Given the description of an element on the screen output the (x, y) to click on. 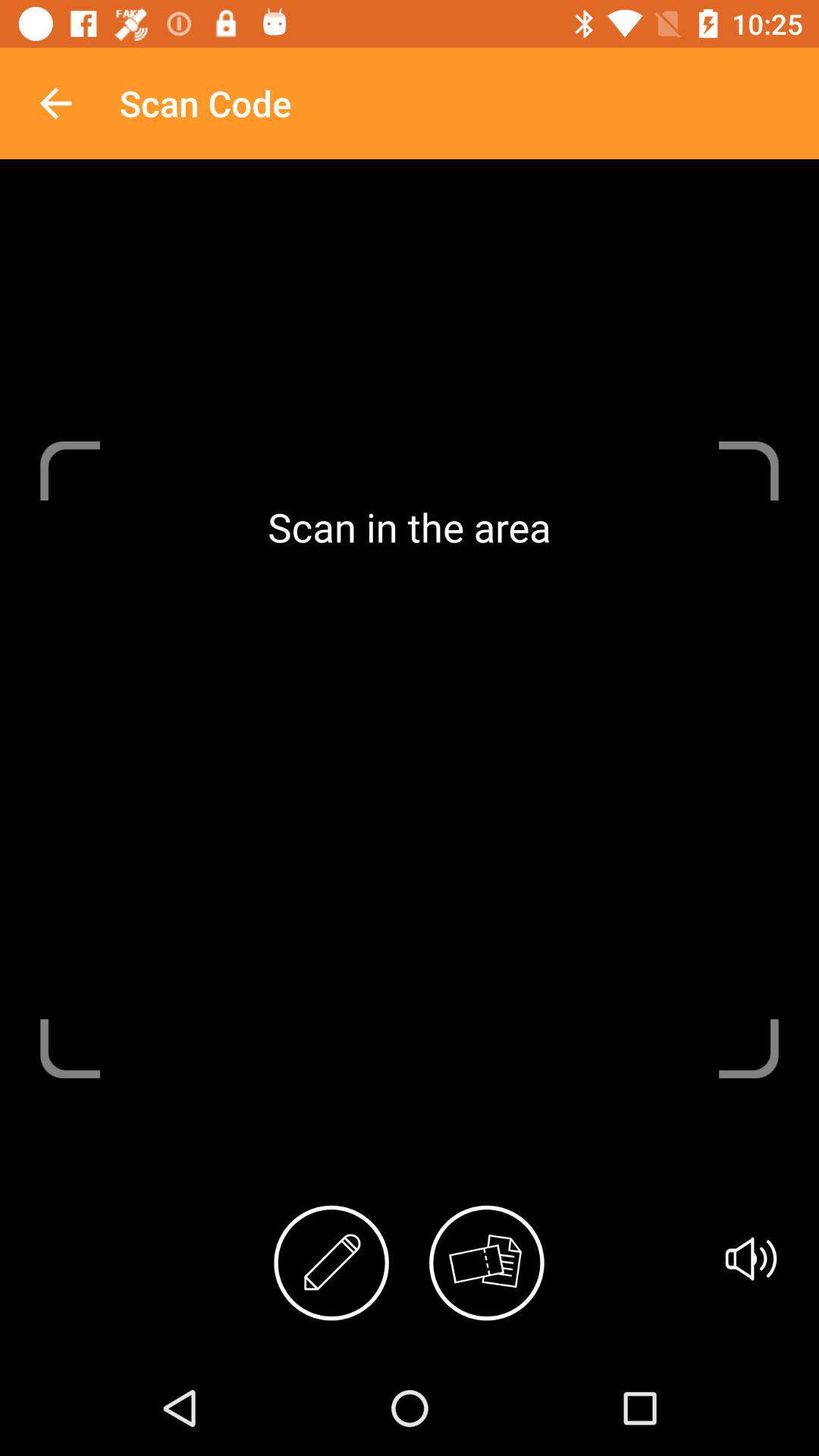
tap item below the scan in the icon (750, 1258)
